Given the description of an element on the screen output the (x, y) to click on. 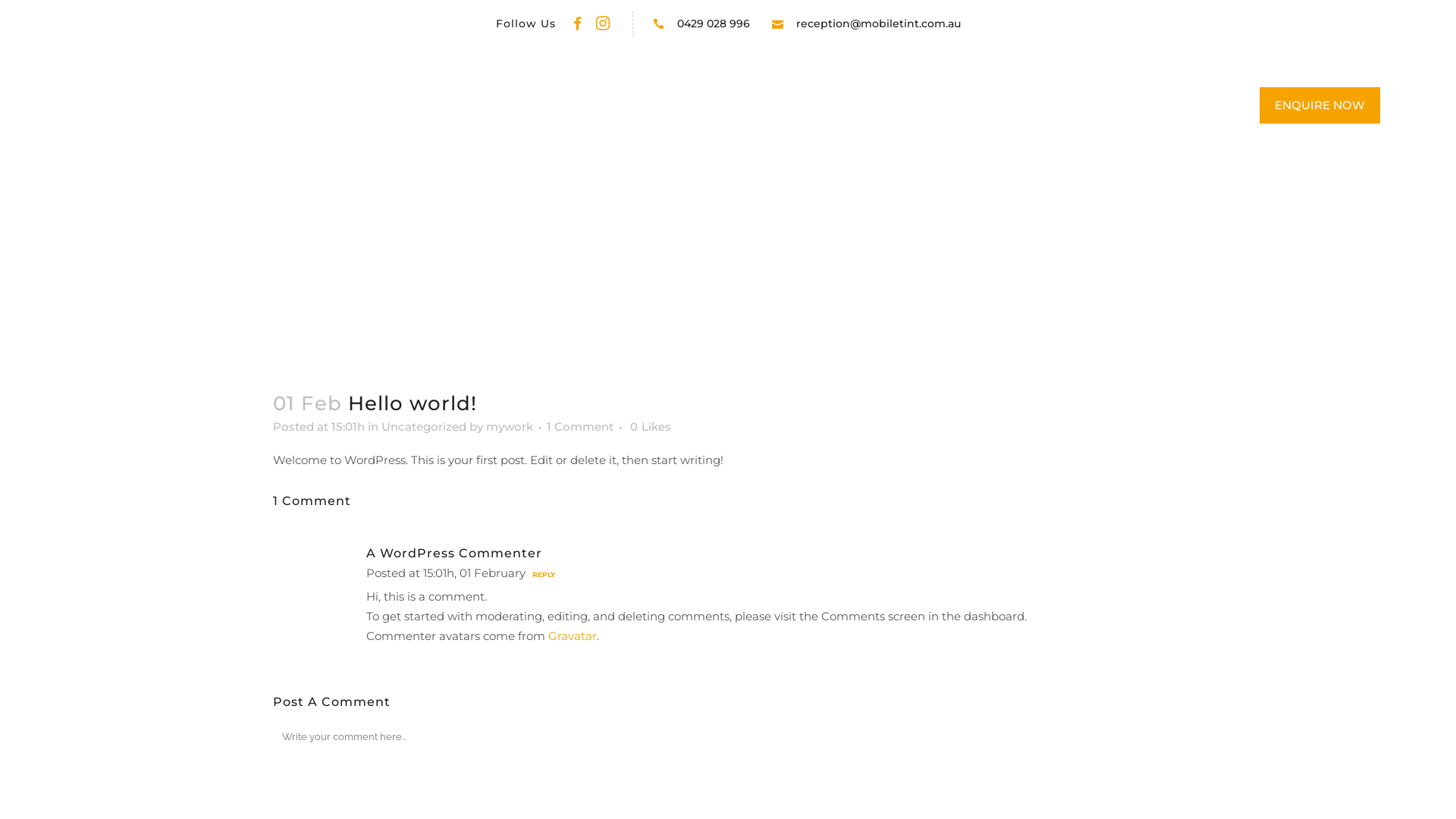
0 Likes Element type: text (650, 426)
A WordPress Commenter Element type: text (454, 553)
mywork Element type: text (509, 426)
Gravatar Element type: text (572, 635)
Pricing & Warranty Element type: text (804, 106)
Why Us? Element type: text (684, 106)
Contact Element type: text (922, 106)
Home Element type: text (524, 106)
Uncategorized Element type: text (423, 426)
1 Comment Element type: text (579, 426)
Services Element type: text (599, 106)
REPLY Element type: text (541, 574)
